Given the description of an element on the screen output the (x, y) to click on. 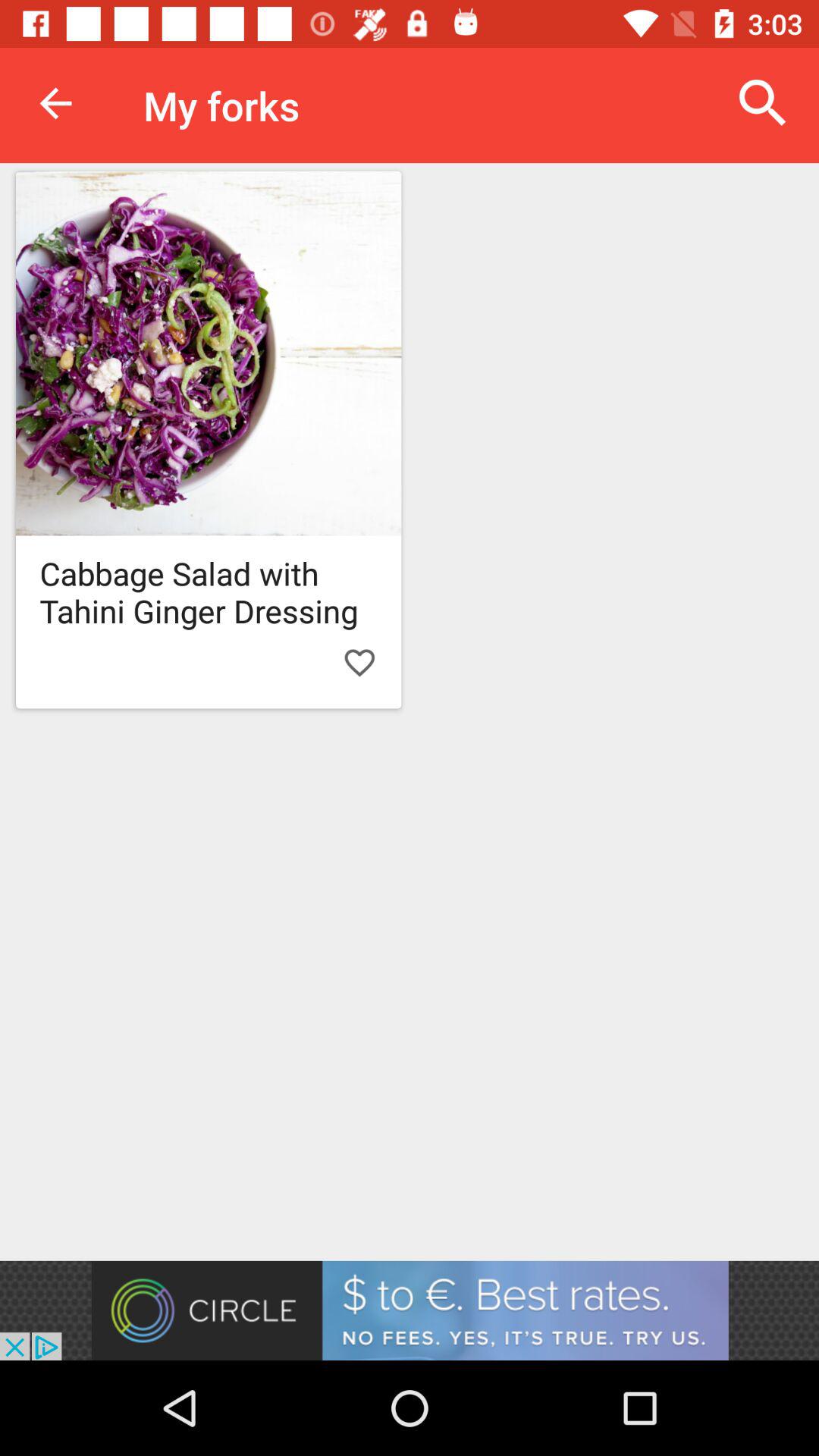
click to view advertisement (409, 1310)
